Given the description of an element on the screen output the (x, y) to click on. 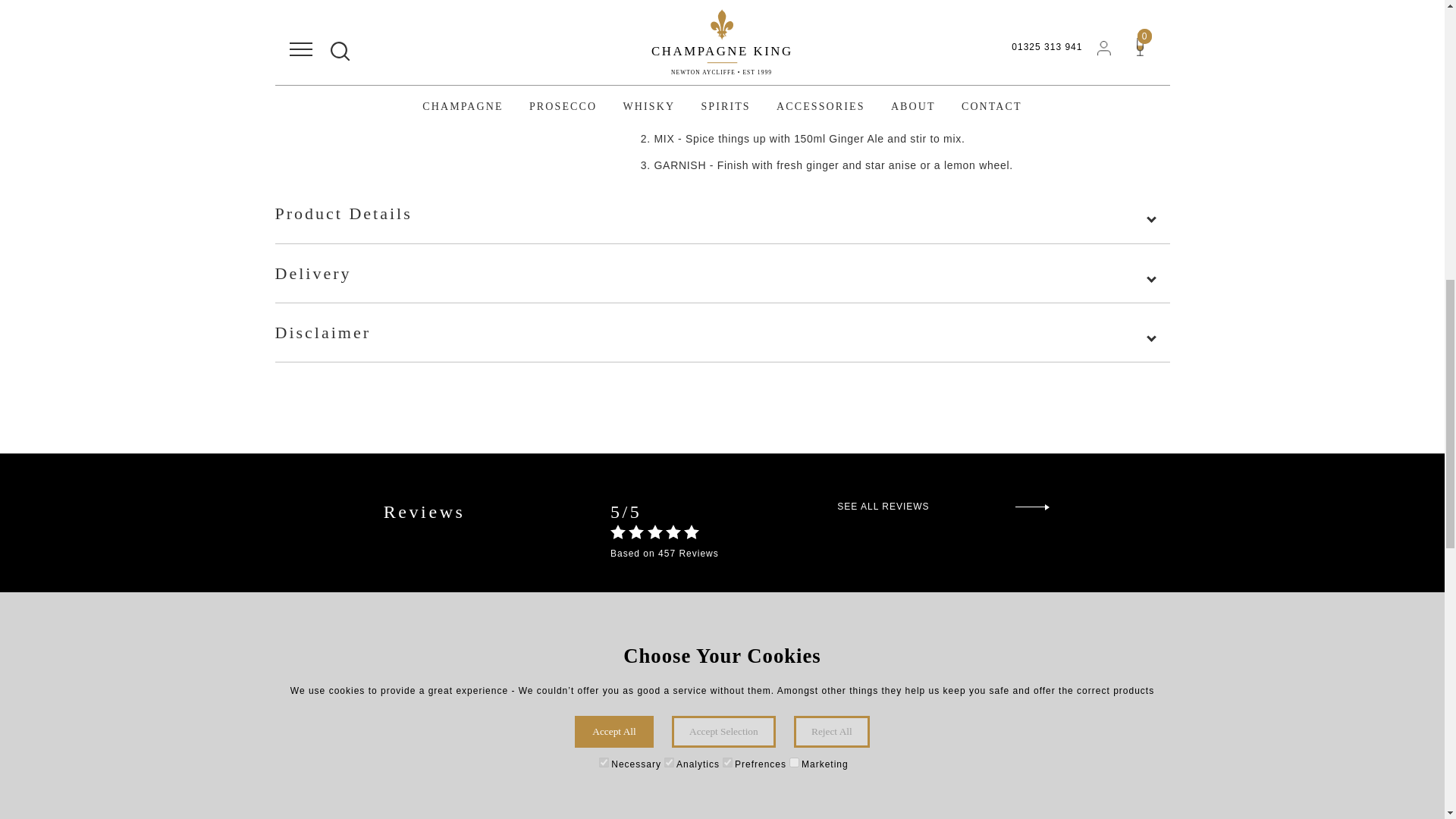
View Jameson Caskmates Stout 70cl (381, 781)
View Toki Suntory Blended Whisky 70cl (818, 781)
View Johnnie Walker Gold Label Reserve Blended Whisky 70cl (1036, 781)
View Johnnie Walker Blue Label Year of the Ox 70cl (600, 781)
